Given the description of an element on the screen output the (x, y) to click on. 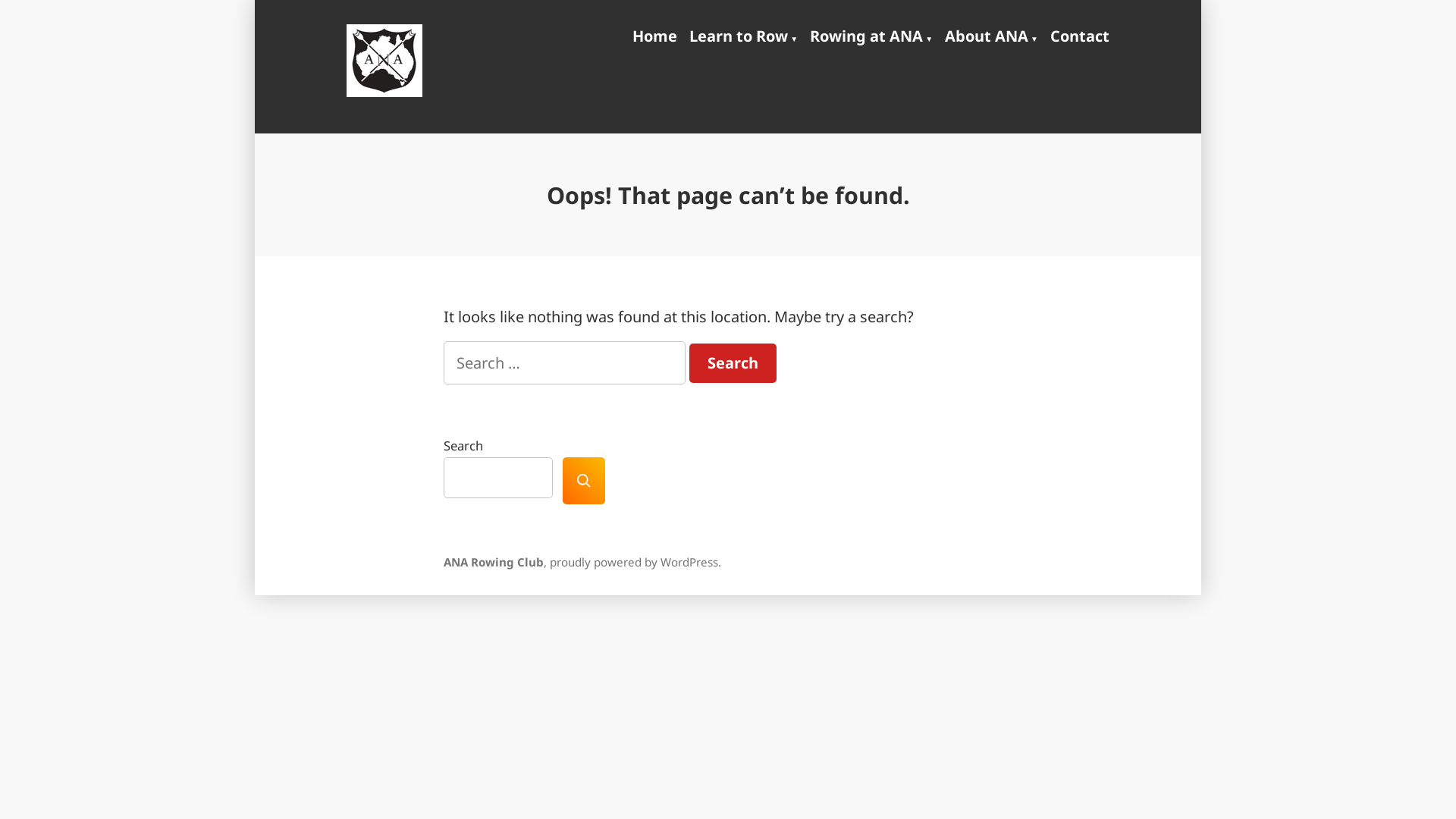
Rowing at ANA Element type: text (870, 37)
Home Element type: text (657, 37)
Search Element type: text (732, 362)
proudly powered by WordPress Element type: text (633, 561)
About ANA Element type: text (991, 37)
Contact Element type: text (1076, 37)
Learn to Row Element type: text (743, 37)
ANA Rowing Club Element type: text (493, 561)
ANA Rowing Club Element type: text (460, 95)
